Given the description of an element on the screen output the (x, y) to click on. 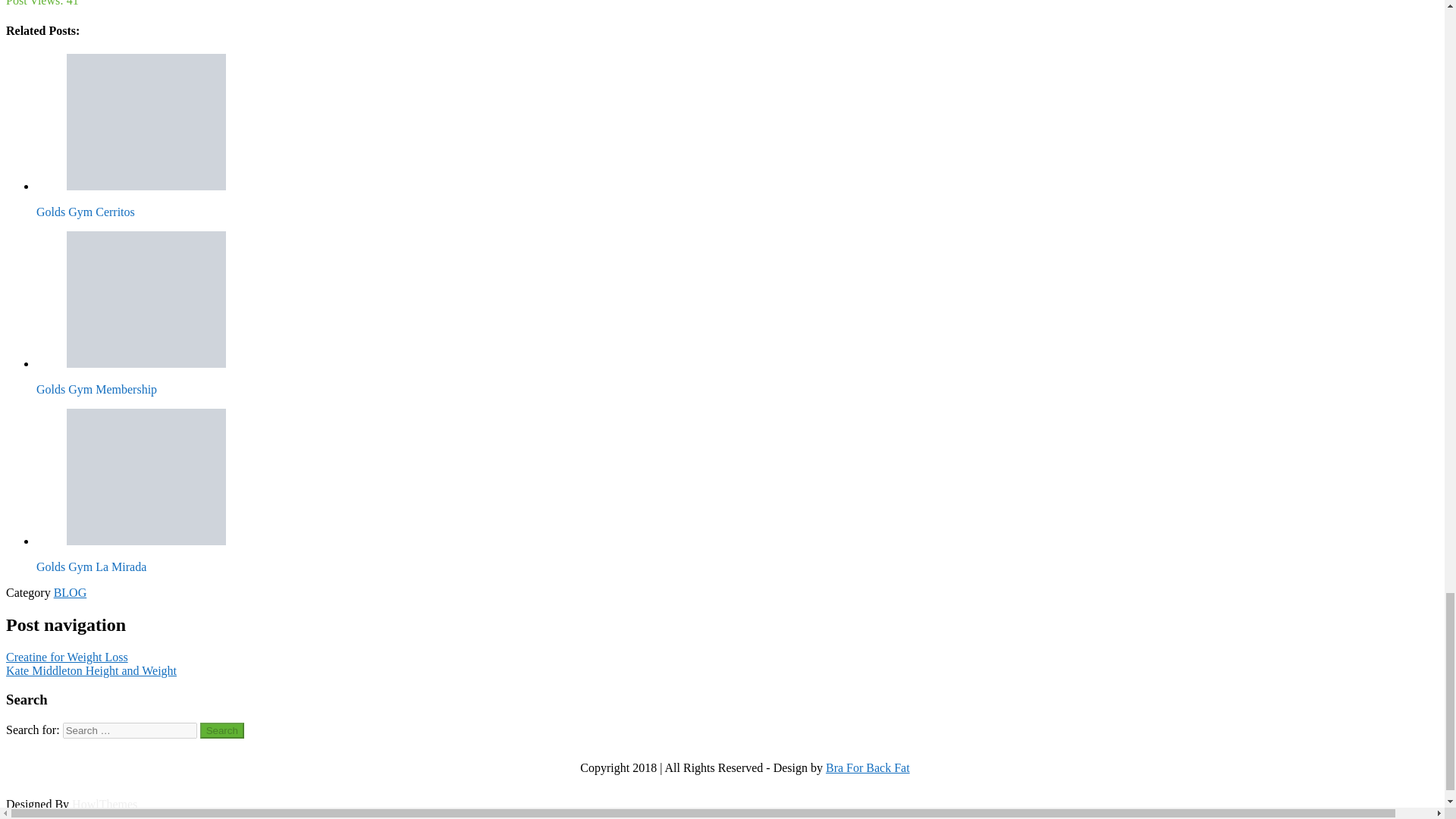
Golds Gym Membership (145, 298)
Search (222, 730)
Search (222, 730)
Golds Gym Cerritos (145, 122)
Golds Gym La Mirada (145, 476)
